Given the description of an element on the screen output the (x, y) to click on. 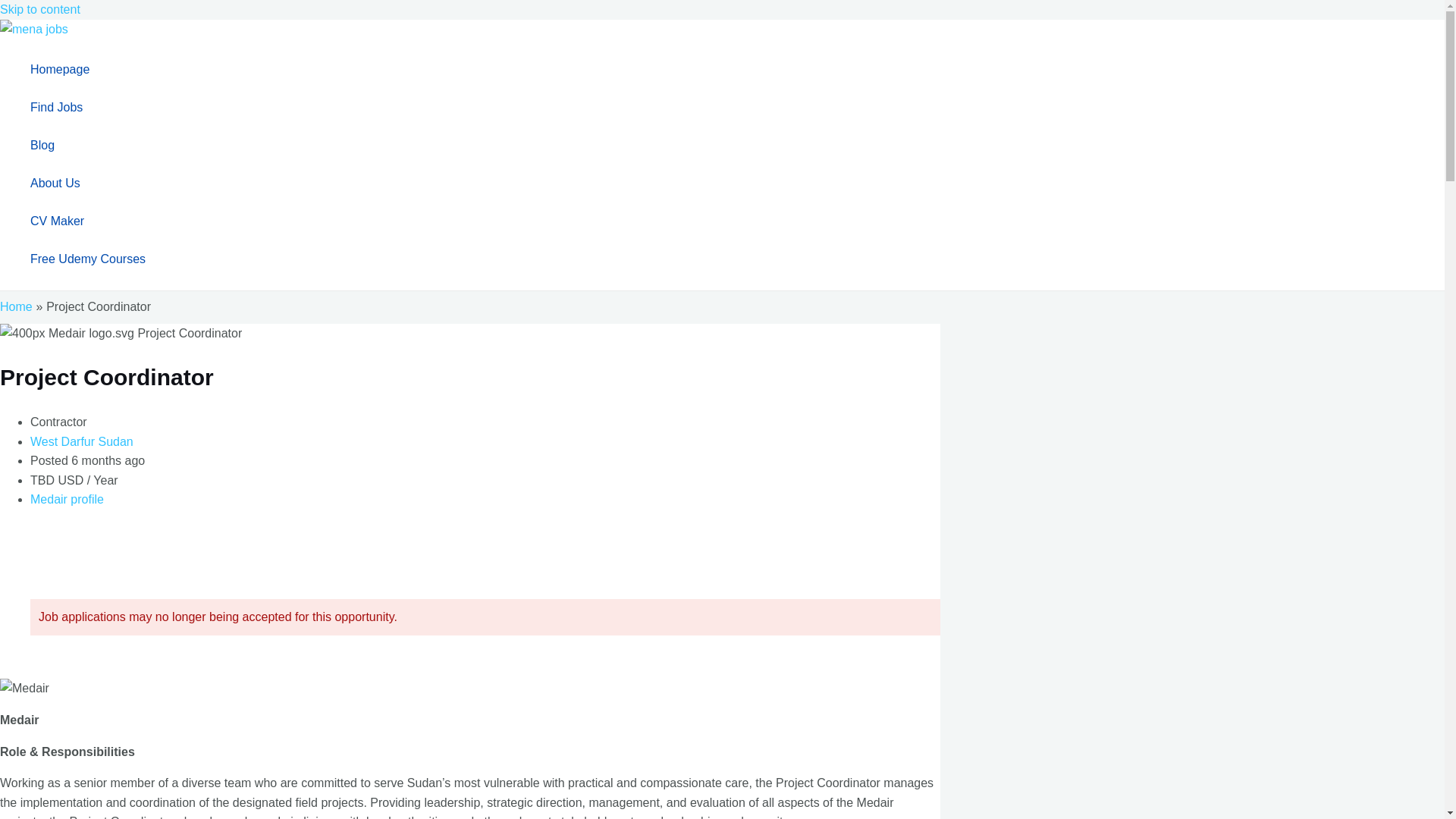
Find Jobs (87, 107)
Skip to content (40, 9)
Skip to content (40, 9)
Project Coordinator 3 (24, 688)
West Darfur Sudan (81, 440)
Homepage (87, 69)
Medair profile (66, 499)
About Us (87, 183)
Free Udemy Courses (87, 259)
Home (16, 306)
Project Coordinator 2 (120, 333)
Blog (87, 145)
CV Maker (87, 221)
